Given the description of an element on the screen output the (x, y) to click on. 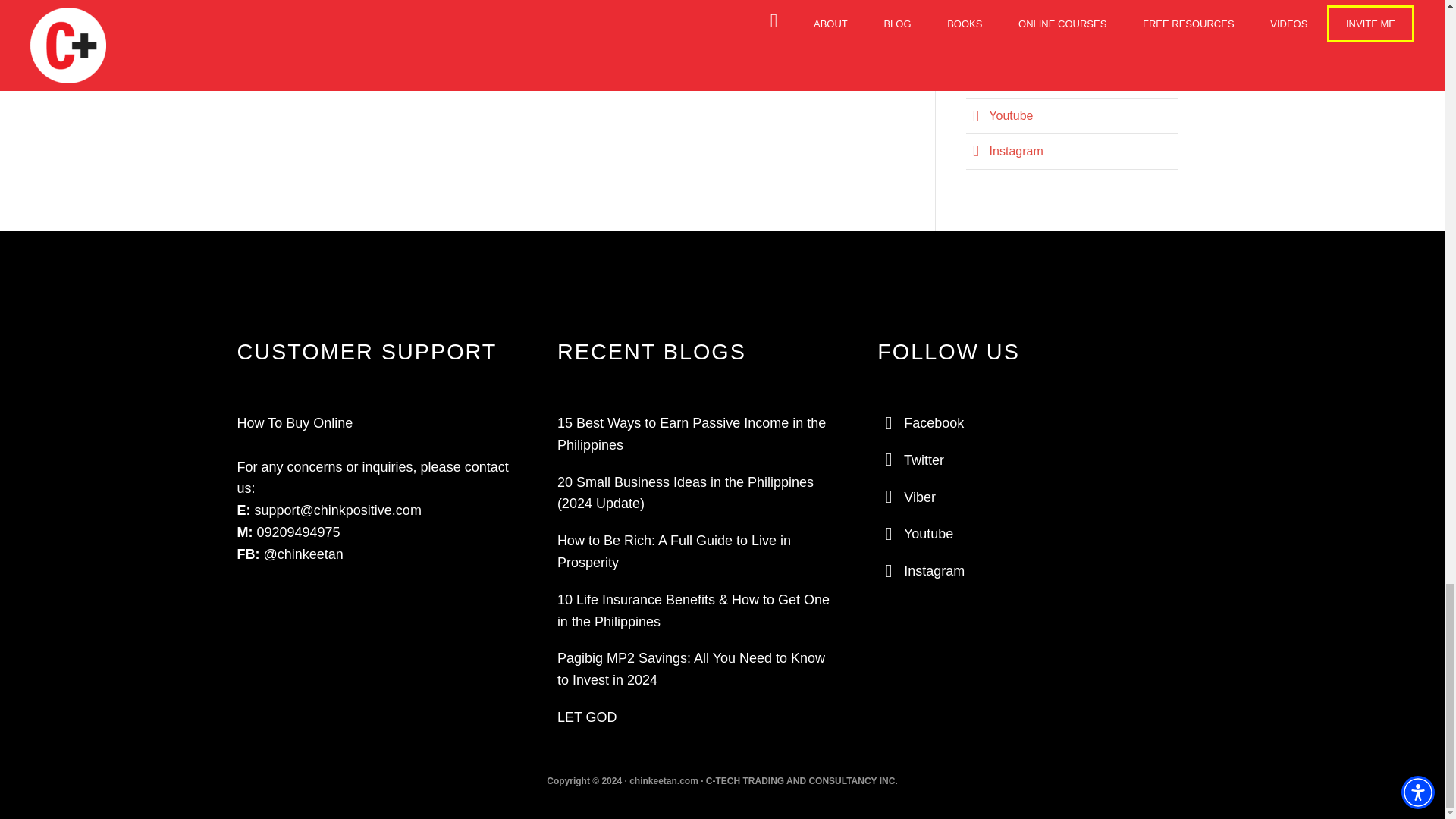
Viber (991, 80)
Youtube (999, 115)
Twitter (995, 44)
Facebook (1004, 10)
